Given the description of an element on the screen output the (x, y) to click on. 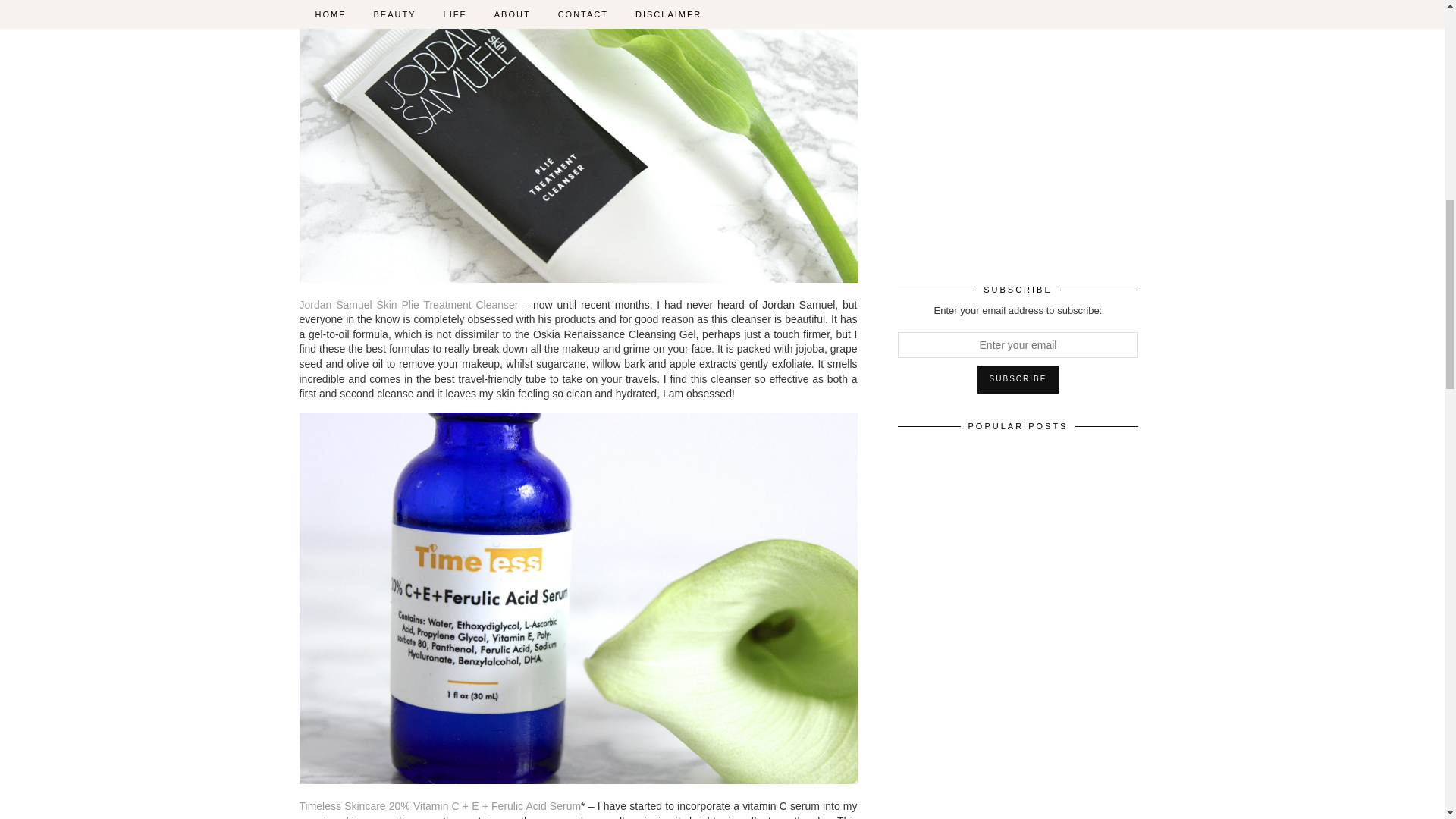
Subscribe (1017, 379)
